Given the description of an element on the screen output the (x, y) to click on. 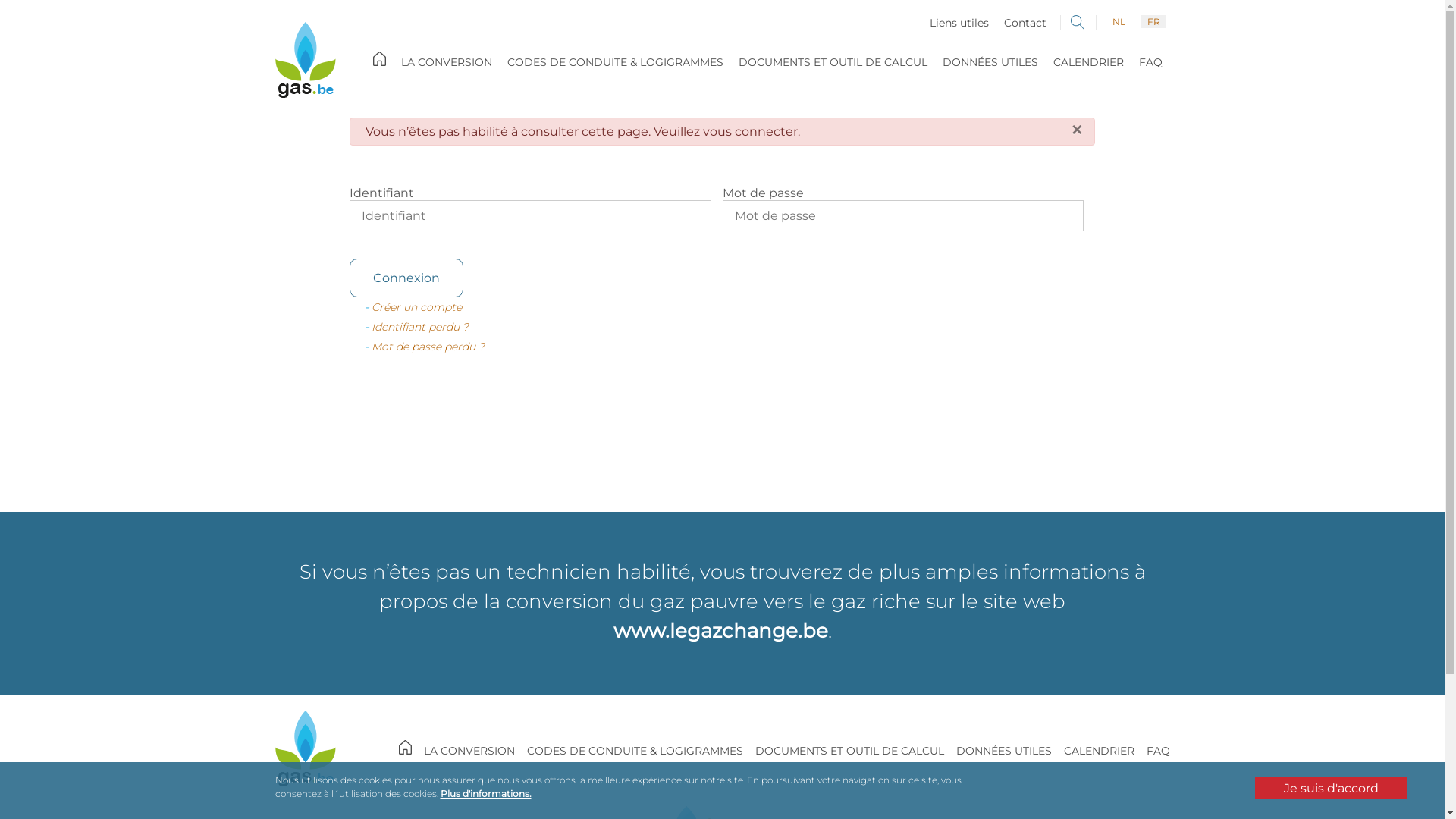
Contact Element type: text (1025, 22)
FAQ Element type: text (1150, 62)
Identifiant perdu ? Element type: text (419, 326)
LA CONVERSION Element type: text (445, 62)
CALENDRIER Element type: text (1087, 62)
www.legazchange.be Element type: text (719, 630)
FAQ Element type: text (1158, 750)
NL Element type: text (1117, 21)
Connexion Element type: text (406, 277)
DOCUMENTS ET OUTIL DE CALCUL Element type: text (832, 62)
Plus d'informations. Element type: text (484, 793)
Mot de passe perdu ? Element type: text (427, 346)
Liens utiles Element type: text (958, 22)
DOCUMENTS ET OUTIL DE CALCUL Element type: text (849, 750)
CODES DE CONDUITE & LOGIGRAMMES Element type: text (614, 62)
LA CONVERSION Element type: text (468, 750)
CALENDRIER Element type: text (1098, 750)
CODES DE CONDUITE & LOGIGRAMMES Element type: text (634, 750)
FR Element type: text (1152, 21)
